Given the description of an element on the screen output the (x, y) to click on. 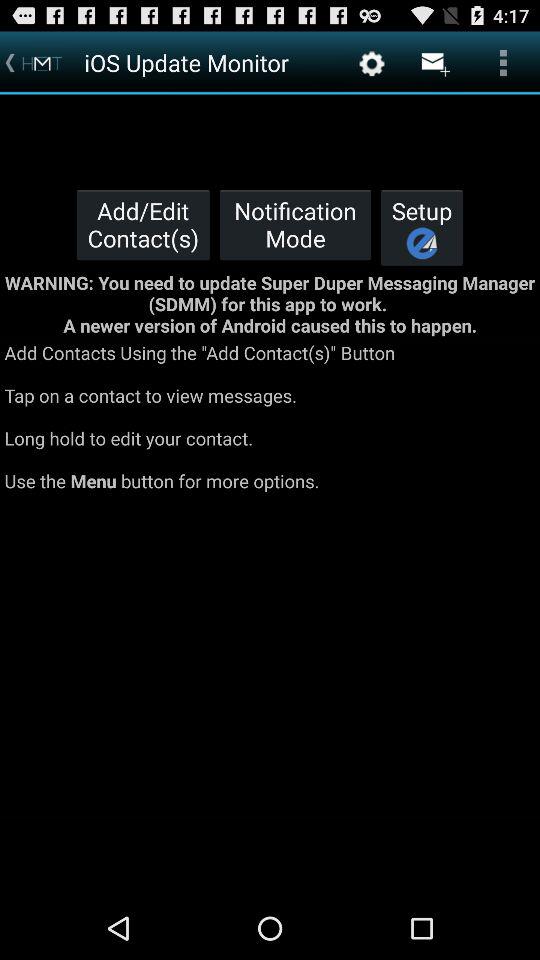
flip to setup item (422, 227)
